Given the description of an element on the screen output the (x, y) to click on. 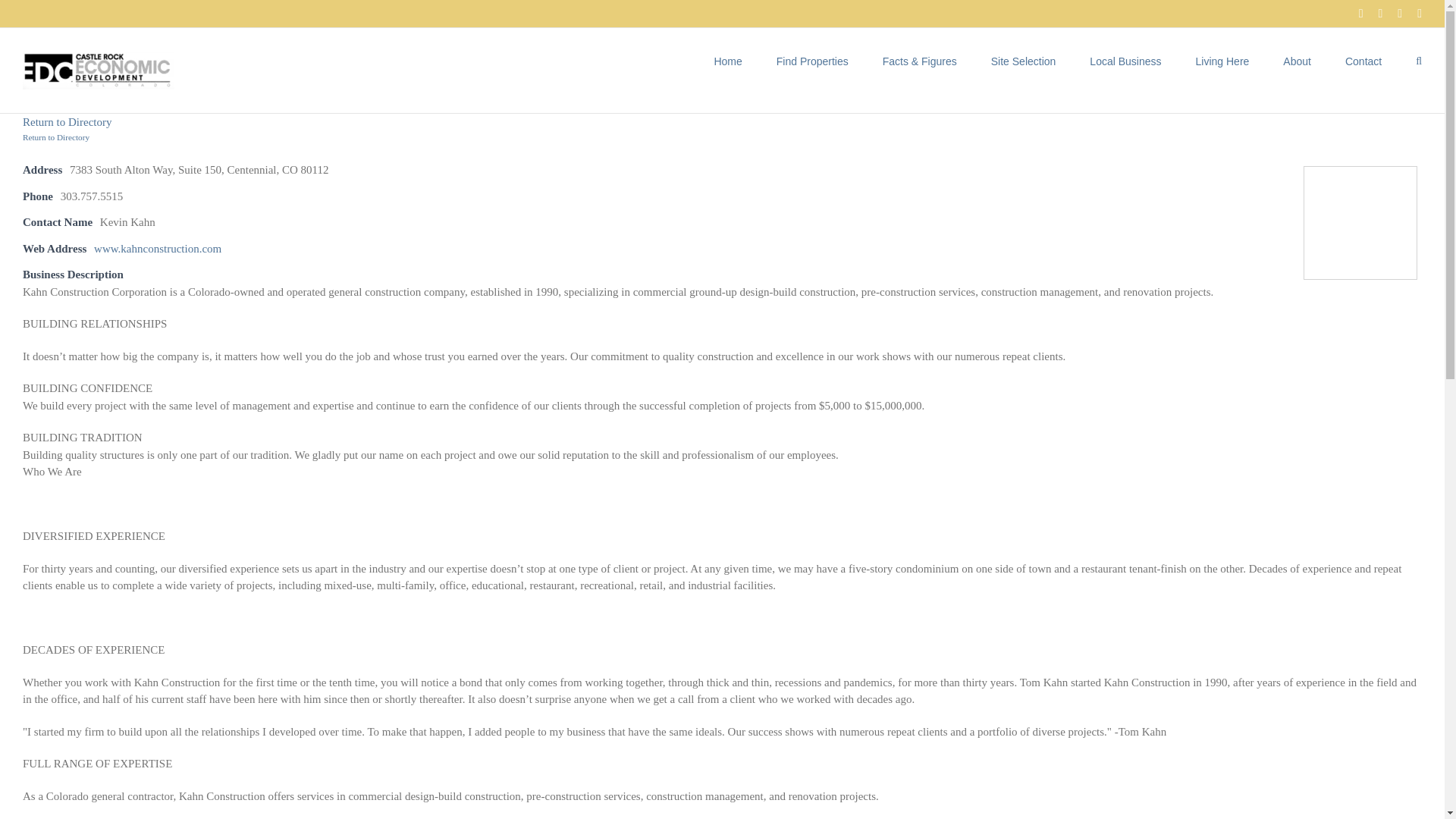
Local Business (1124, 59)
Site Selection (1024, 59)
Find Properties (812, 59)
Kahn Construction Corp. (1359, 223)
www.kahnconstruction.com (157, 248)
